Given the description of an element on the screen output the (x, y) to click on. 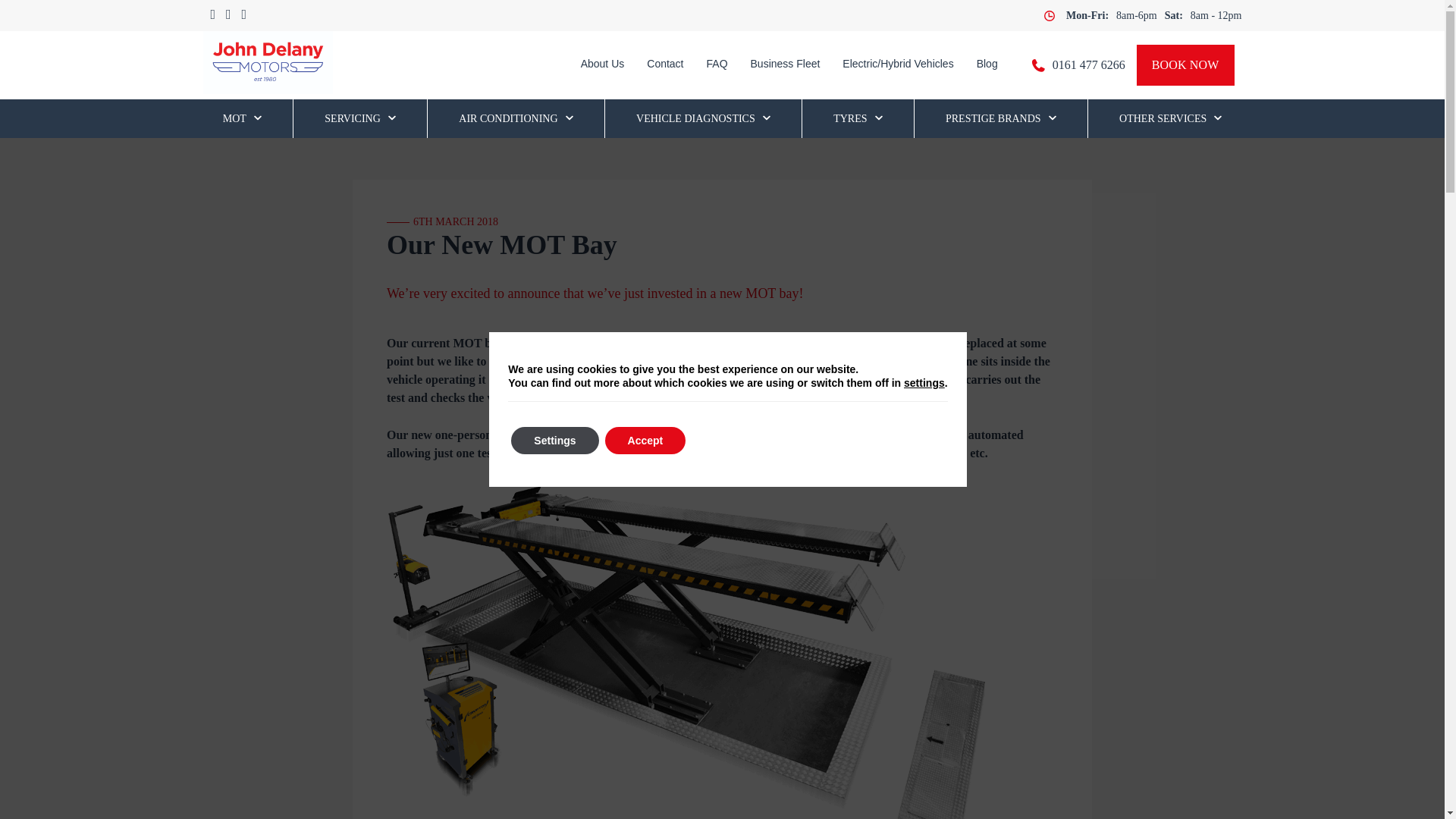
BOOK NOW (1185, 65)
Blog (986, 65)
MOT (242, 118)
TYRES (857, 118)
0161 477 6266 (1088, 65)
VEHICLE DIAGNOSTICS (703, 118)
SERVICING (360, 118)
Settings (554, 440)
Business Fleet (786, 65)
About Us (602, 65)
FAQ (717, 65)
AIR CONDITIONING (515, 118)
Contact (664, 65)
